Given the description of an element on the screen output the (x, y) to click on. 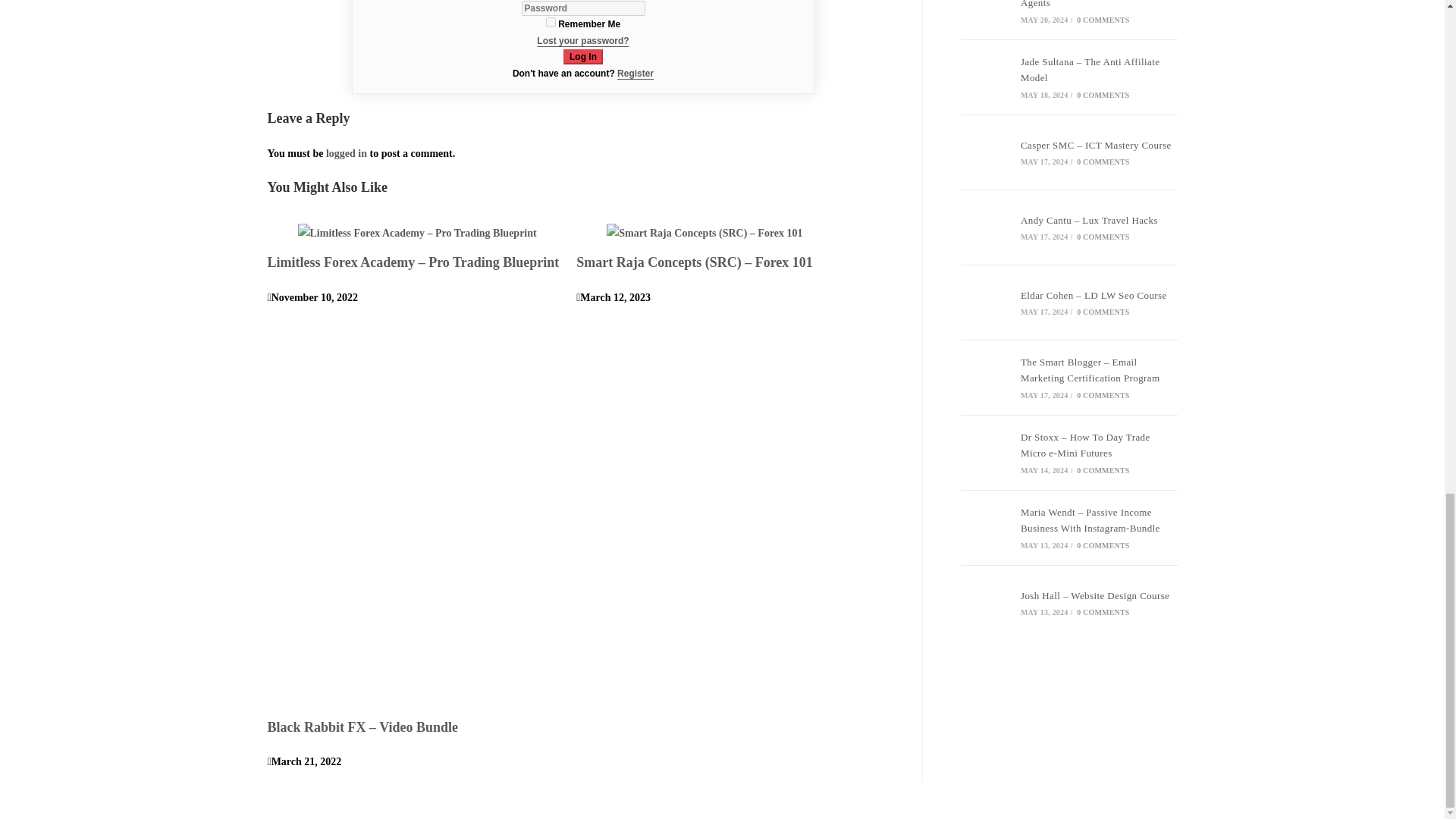
forever (551, 22)
Log In (582, 56)
